Given the description of an element on the screen output the (x, y) to click on. 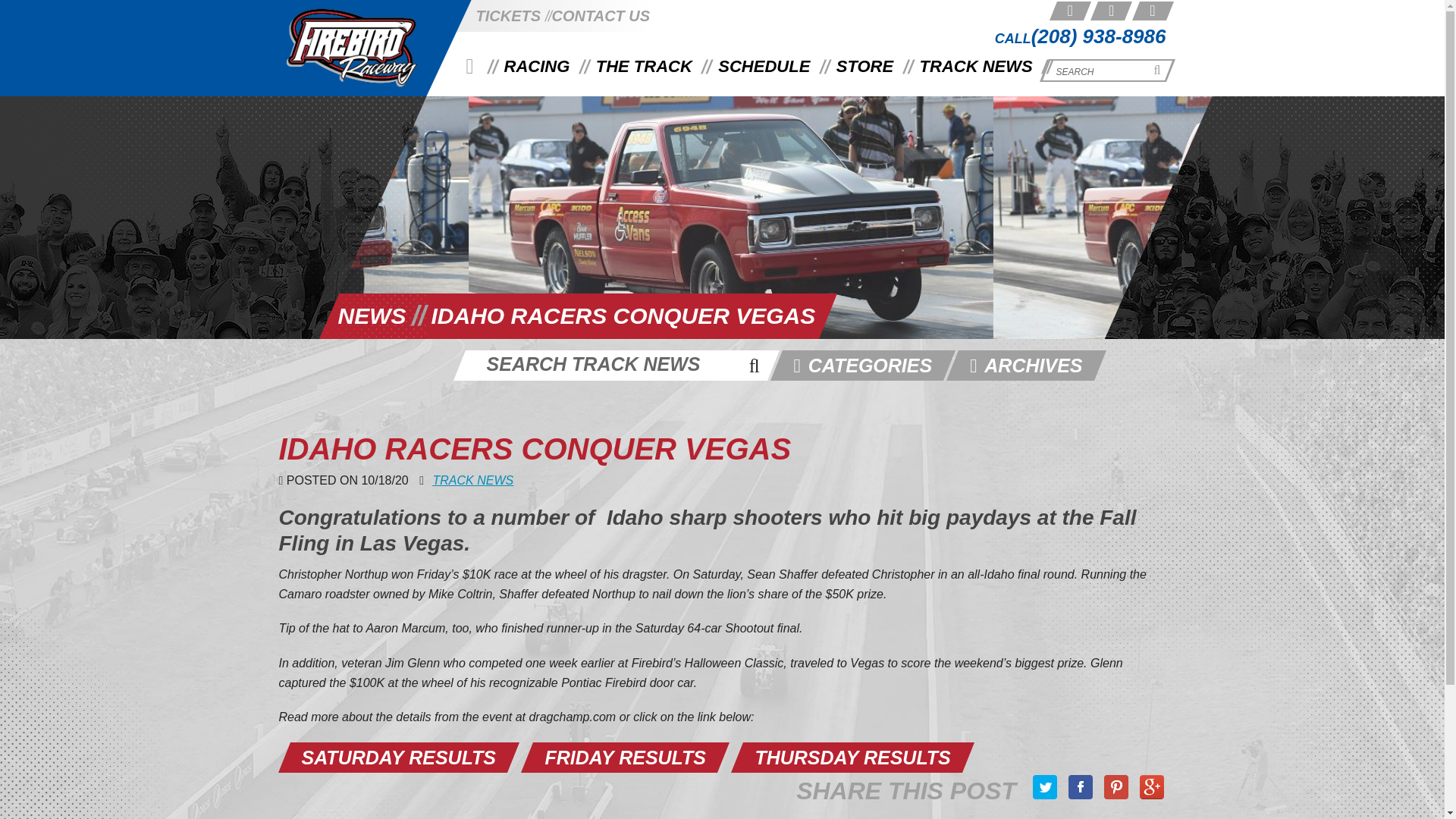
CONTACT US (600, 15)
RACING (536, 66)
TICKETS (508, 15)
THE TRACK (643, 66)
Home (469, 68)
SCHEDULE (763, 66)
